Given the description of an element on the screen output the (x, y) to click on. 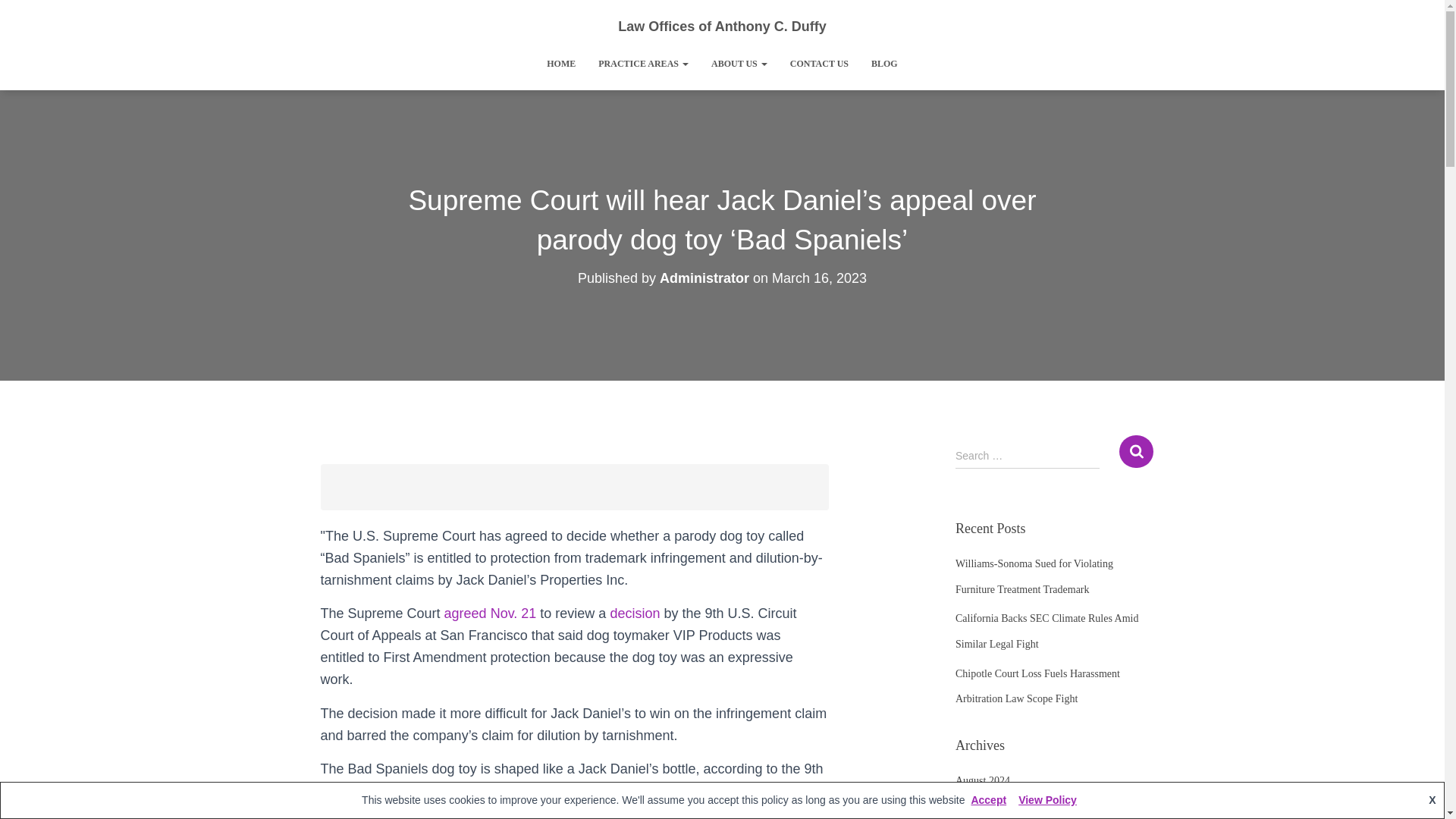
ABOUT US (739, 63)
PRACTICE AREAS (643, 63)
July 2024 (976, 808)
BLOG (884, 63)
Search (1136, 450)
Law Offices of Anthony C. Duffy (722, 26)
agreed Nov. 21 (490, 613)
HOME (560, 63)
Search (1136, 450)
